Given the description of an element on the screen output the (x, y) to click on. 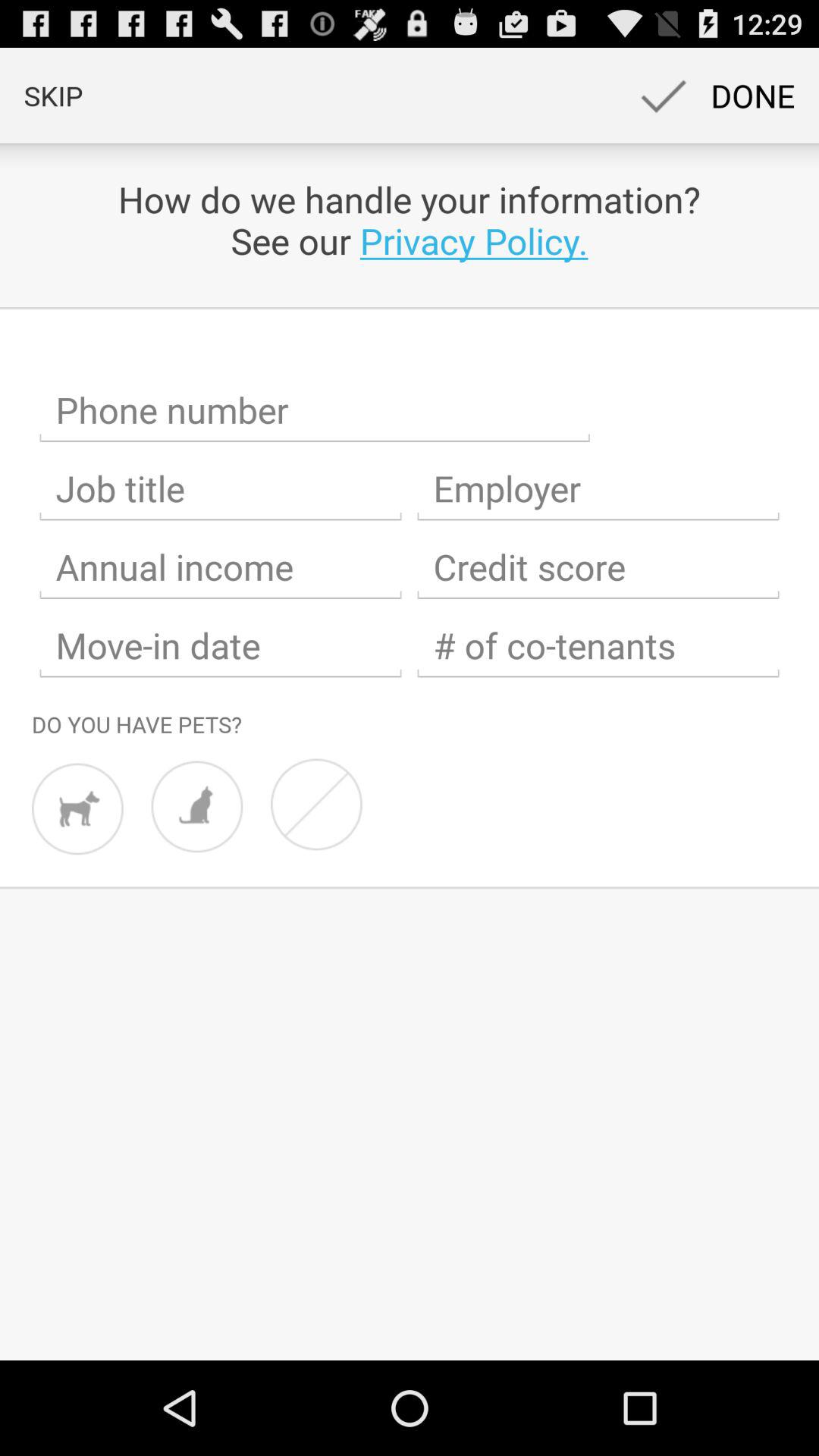
view/show credit score (598, 567)
